Given the description of an element on the screen output the (x, y) to click on. 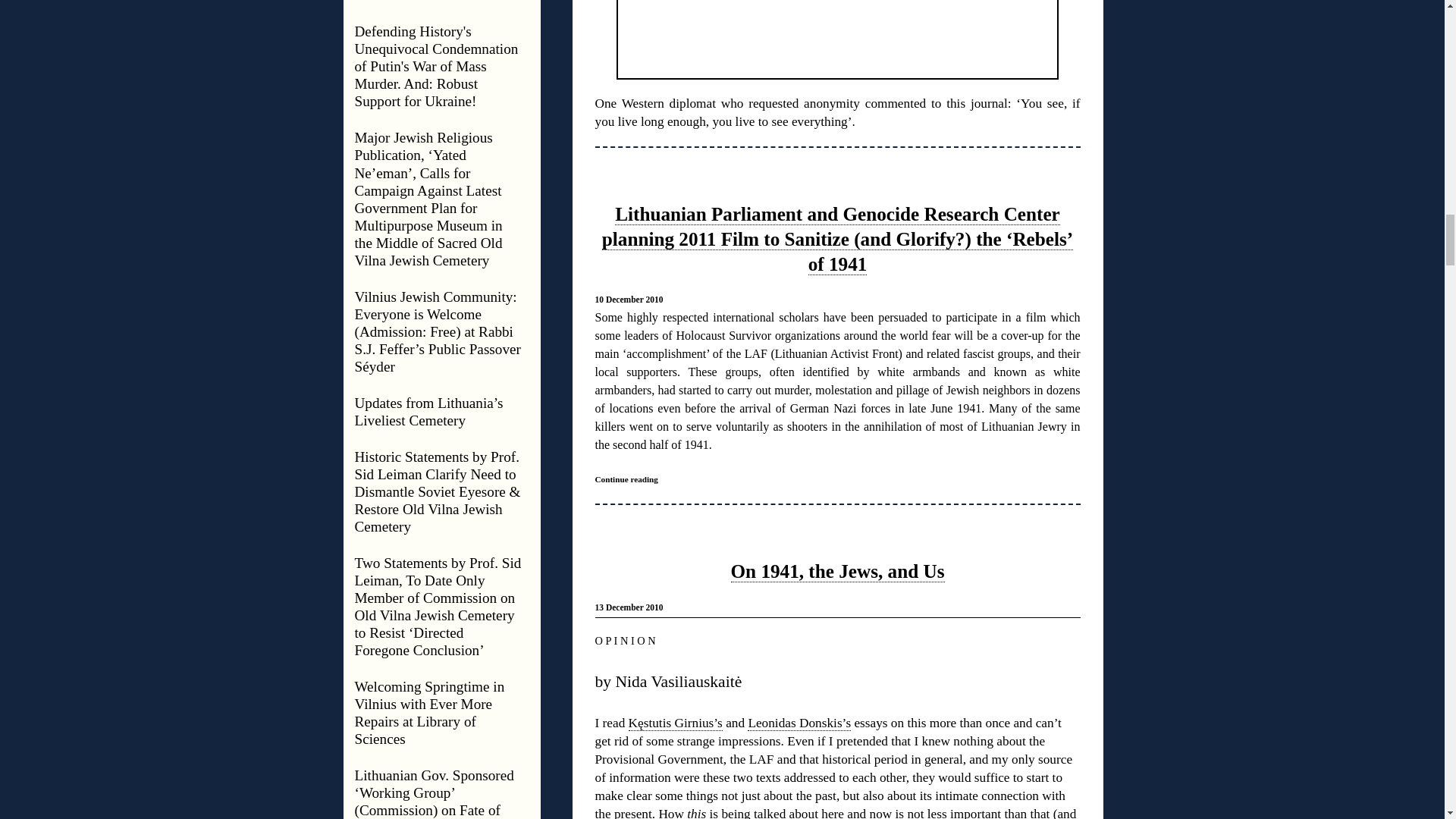
Permalink to On 1941, the Jews, and Us (837, 571)
